Given the description of an element on the screen output the (x, y) to click on. 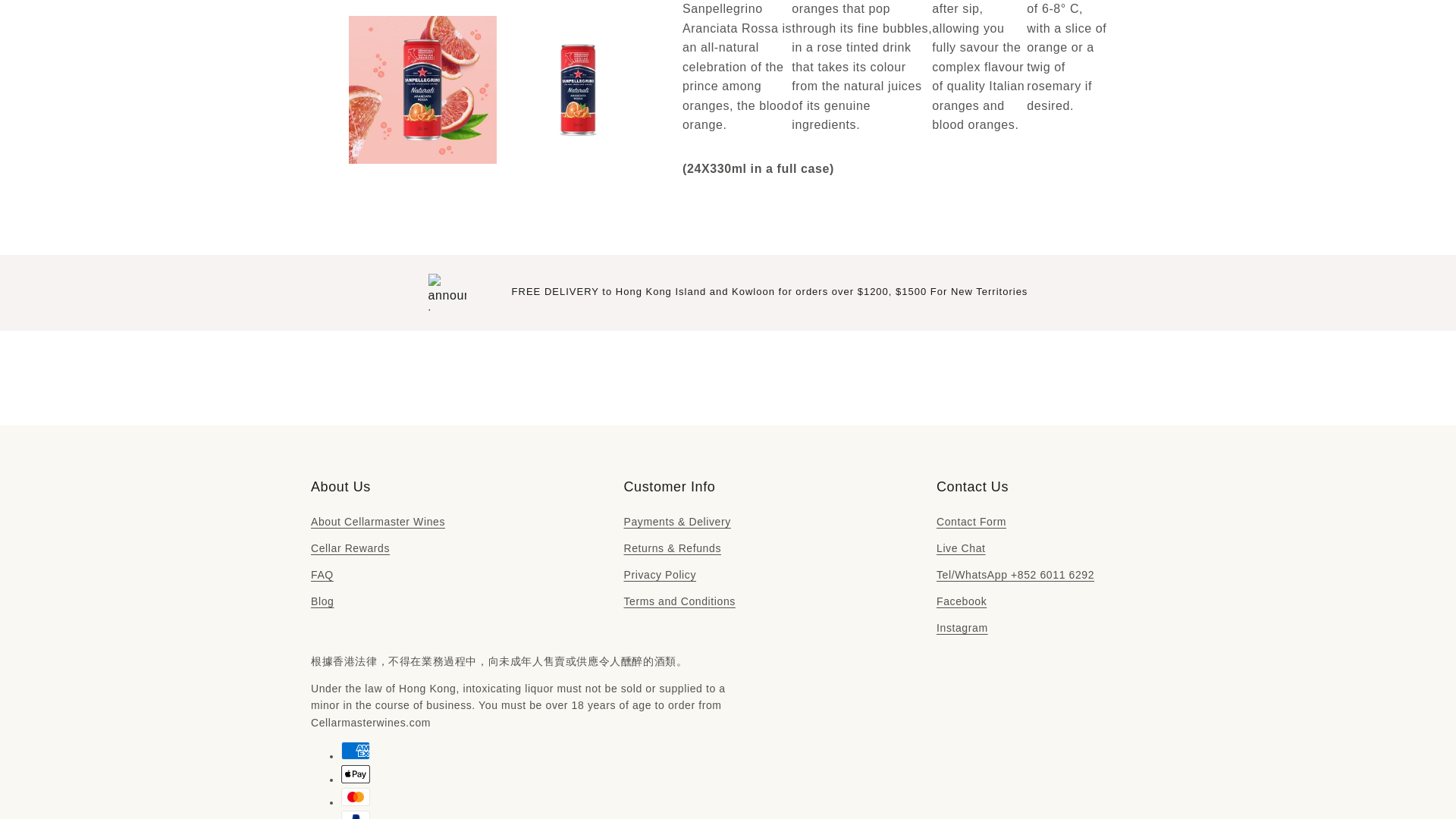
PayPal (354, 814)
American Express (354, 751)
Apple Pay (354, 773)
Mastercard (354, 796)
